Given the description of an element on the screen output the (x, y) to click on. 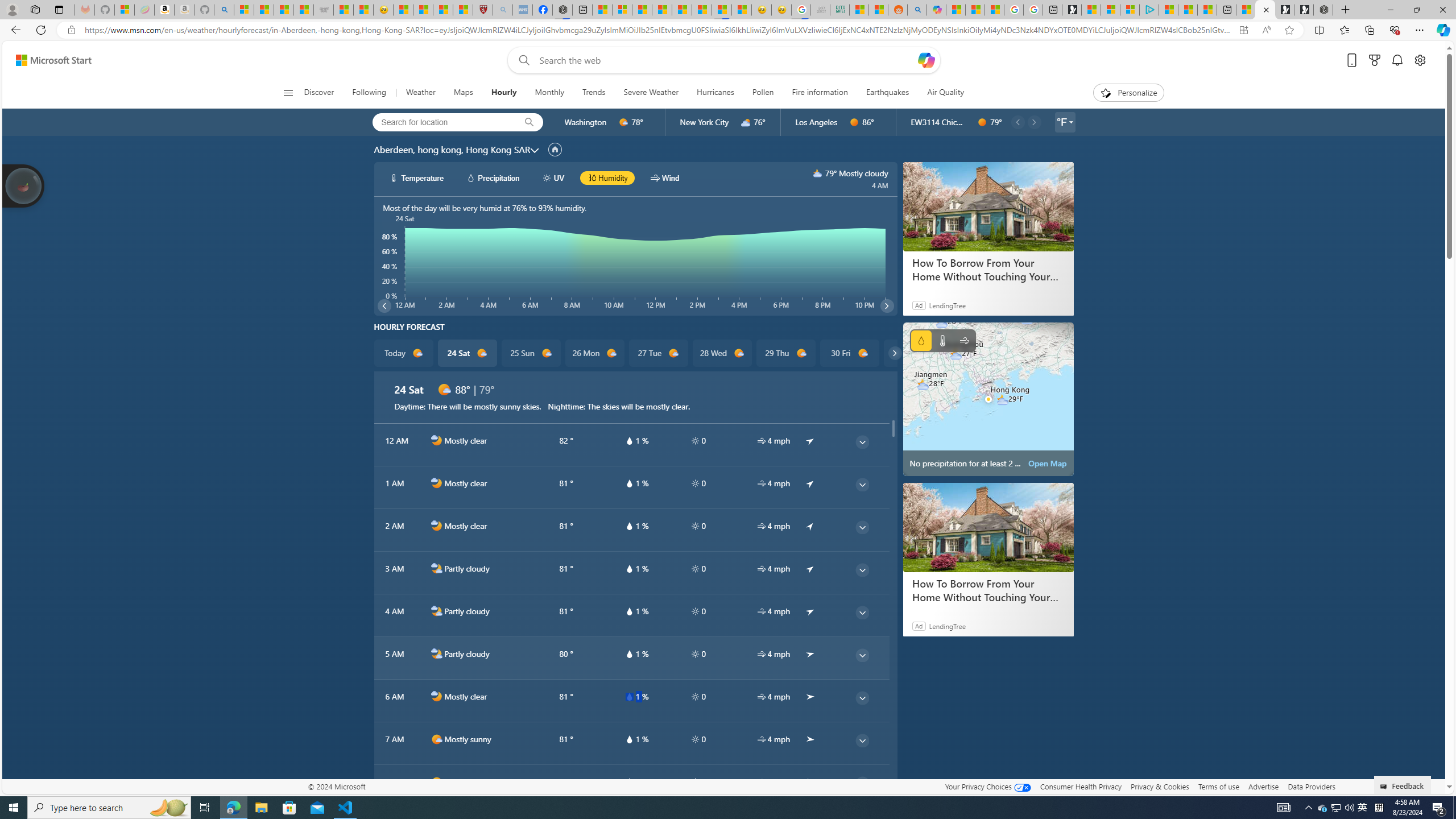
27 Tue d1000 (658, 352)
locationName/setHomeLocation (555, 149)
common/carouselChevron (895, 353)
Earthquakes (887, 92)
